Given the description of an element on the screen output the (x, y) to click on. 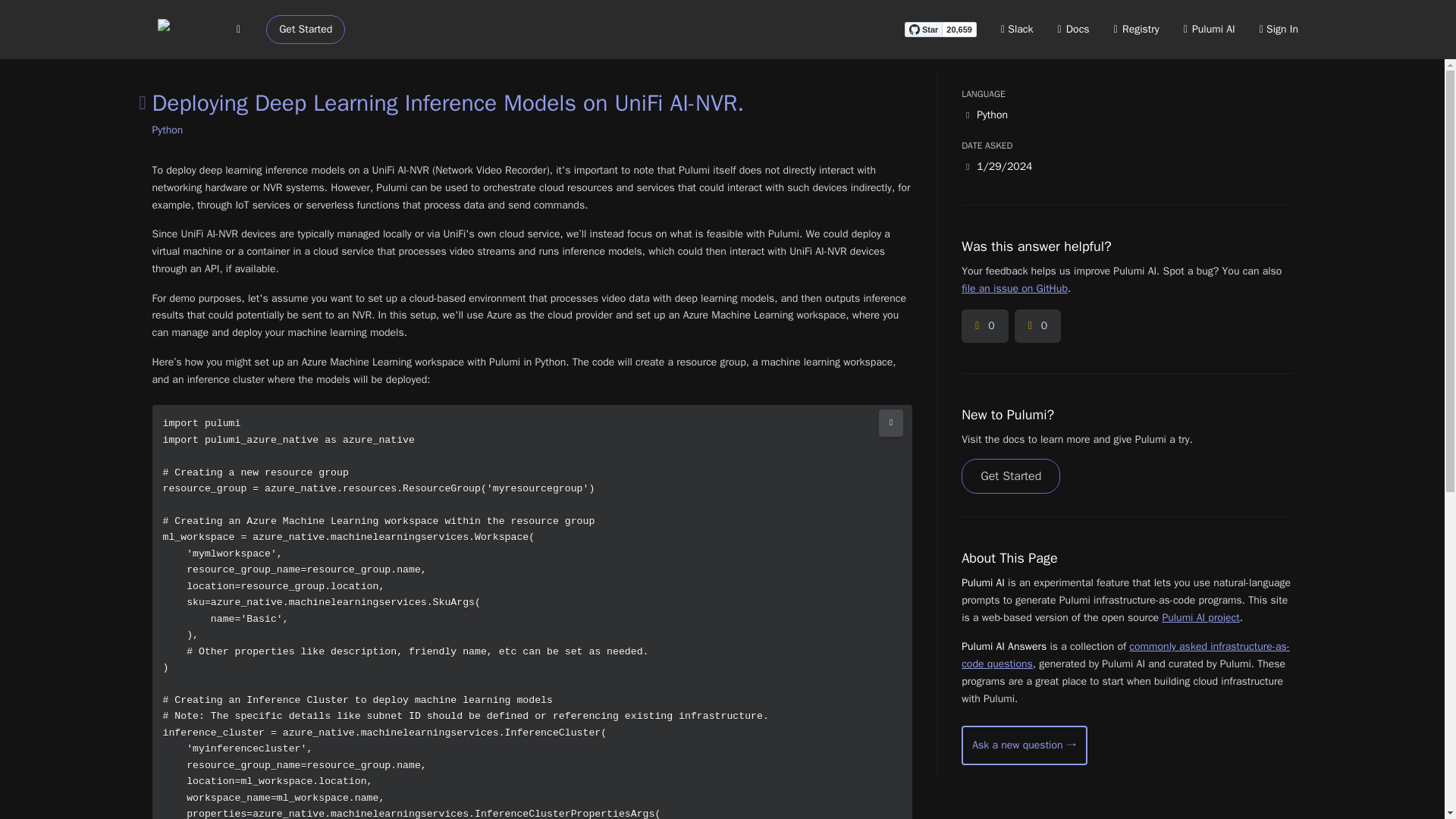
Get Started (1009, 475)
20,659 (959, 29)
Docs (1073, 29)
Pulumi AI (1208, 29)
Registry (1135, 29)
Start a new conversation with Pulumi AI (1023, 744)
0 (984, 326)
Sign In (1278, 29)
Upvote this answer (984, 326)
Get Started (305, 29)
0 (1037, 326)
Slack (1017, 29)
 Star (923, 29)
Downvote this answer (1037, 326)
file an issue on GitHub (1013, 287)
